Given the description of an element on the screen output the (x, y) to click on. 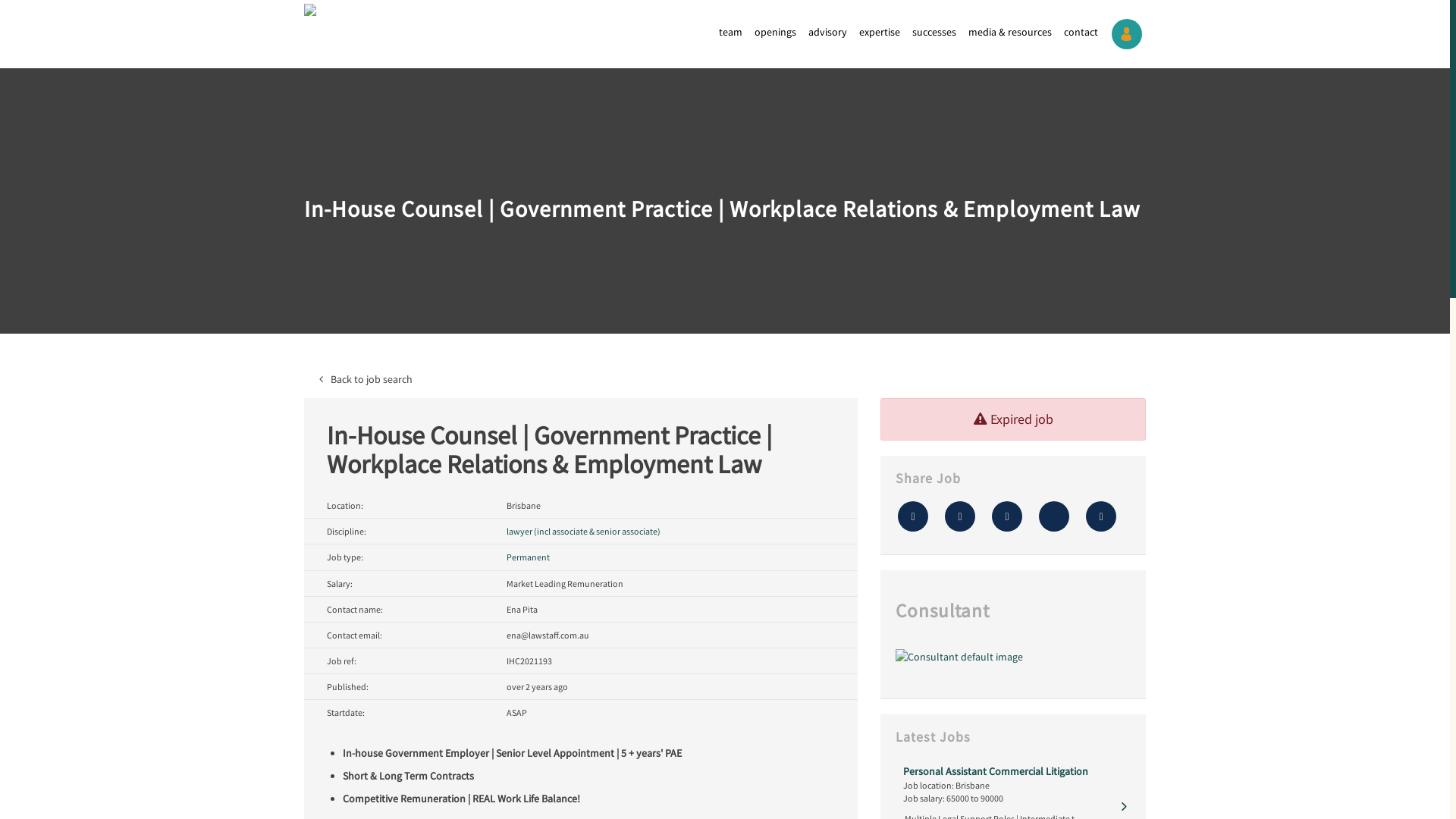
share on LinkedIn Element type: hover (1053, 516)
contact Element type: text (1080, 31)
Permanent Element type: text (527, 556)
media & resources Element type: text (1009, 31)
successes Element type: text (934, 31)
share on Facebook Element type: hover (1006, 516)
advisory Element type: text (827, 31)
openings Element type: text (775, 31)
send in Whatsapp Element type: hover (912, 516)
expertise Element type: text (879, 31)
team Element type: text (730, 31)
Email Element type: hover (1100, 516)
Tweet this Element type: hover (959, 516)
Back to job search Element type: text (724, 378)
lawyer (incl associate & senior associate) Element type: text (583, 530)
